Given the description of an element on the screen output the (x, y) to click on. 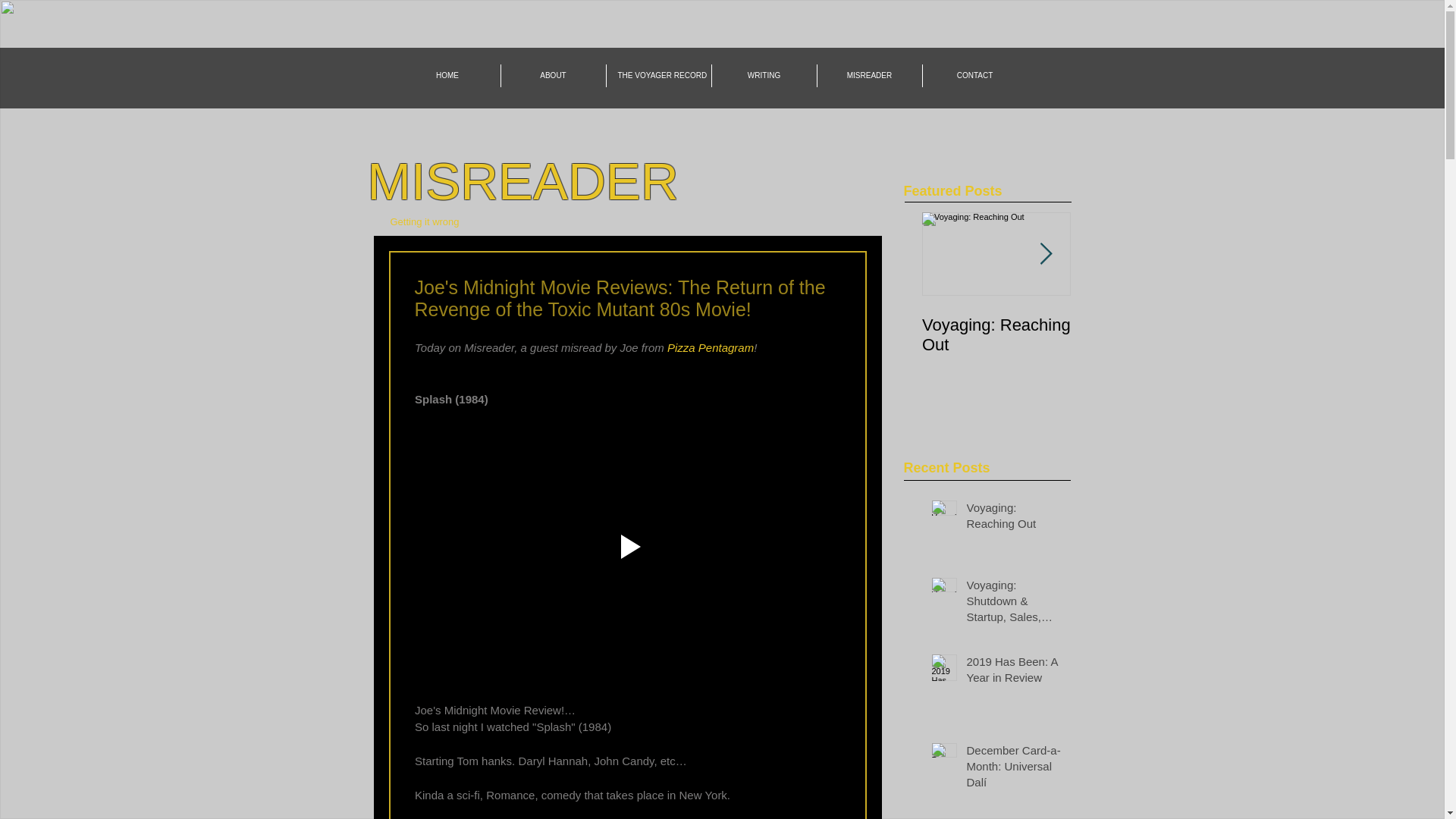
MISREADER (522, 181)
MISREADER (868, 75)
Voyaging: Reaching Out (995, 334)
Voyaging: Reaching Out (1013, 518)
WRITING (763, 75)
Pizza Pentagram (709, 347)
THE VOYAGER RECORD (659, 75)
CONTACT (973, 75)
2019 Has Been: A Year in Review (1013, 672)
ABOUT (552, 75)
